Given the description of an element on the screen output the (x, y) to click on. 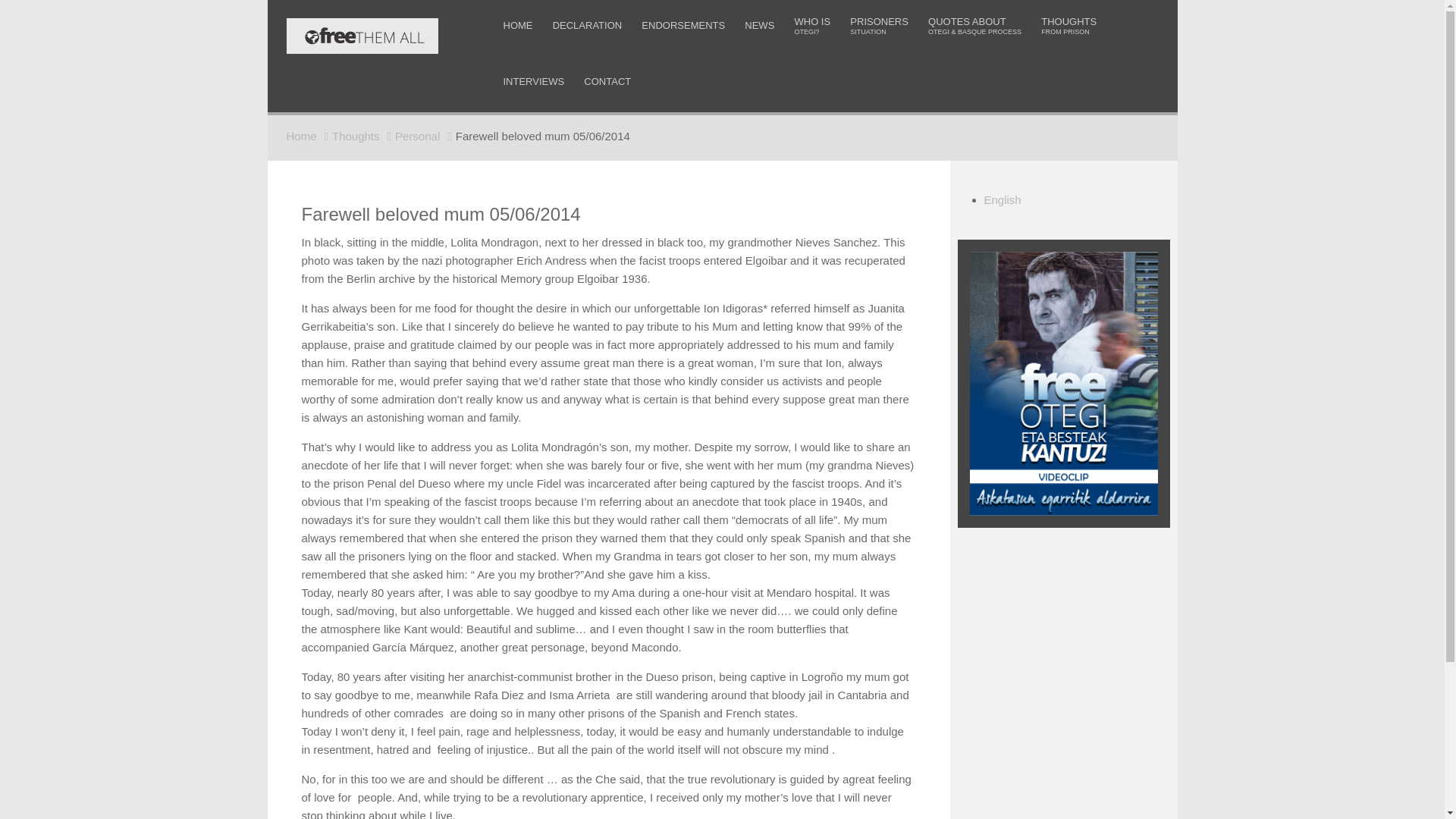
HOME (518, 24)
CONTACT (607, 81)
Thoughts (362, 135)
DECLARATION (587, 24)
English (1003, 199)
Home (309, 135)
NEWS (879, 24)
INTERVIEWS (758, 24)
ENDORSEMENTS (812, 24)
Home (534, 81)
Personal (682, 24)
